Given the description of an element on the screen output the (x, y) to click on. 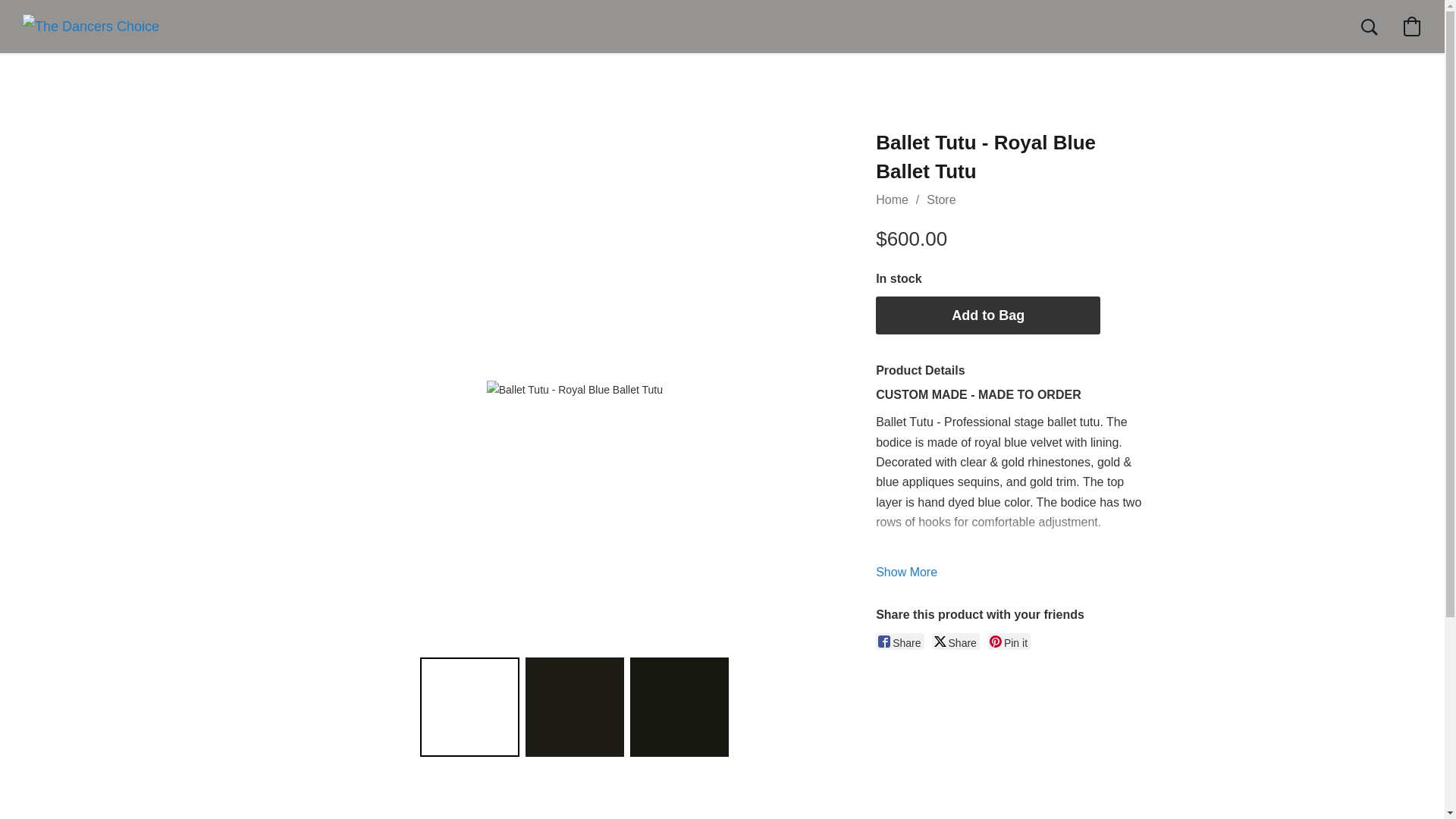
Home (892, 199)
Share (955, 641)
Pin it (1008, 641)
Search the website (1369, 25)
Store (940, 199)
Show More (906, 571)
Go to your shopping cart (1411, 25)
Add to Bag (988, 315)
Ballet Tutu - Royal Blue Ballet Tutu (574, 389)
Share (899, 641)
